Given the description of an element on the screen output the (x, y) to click on. 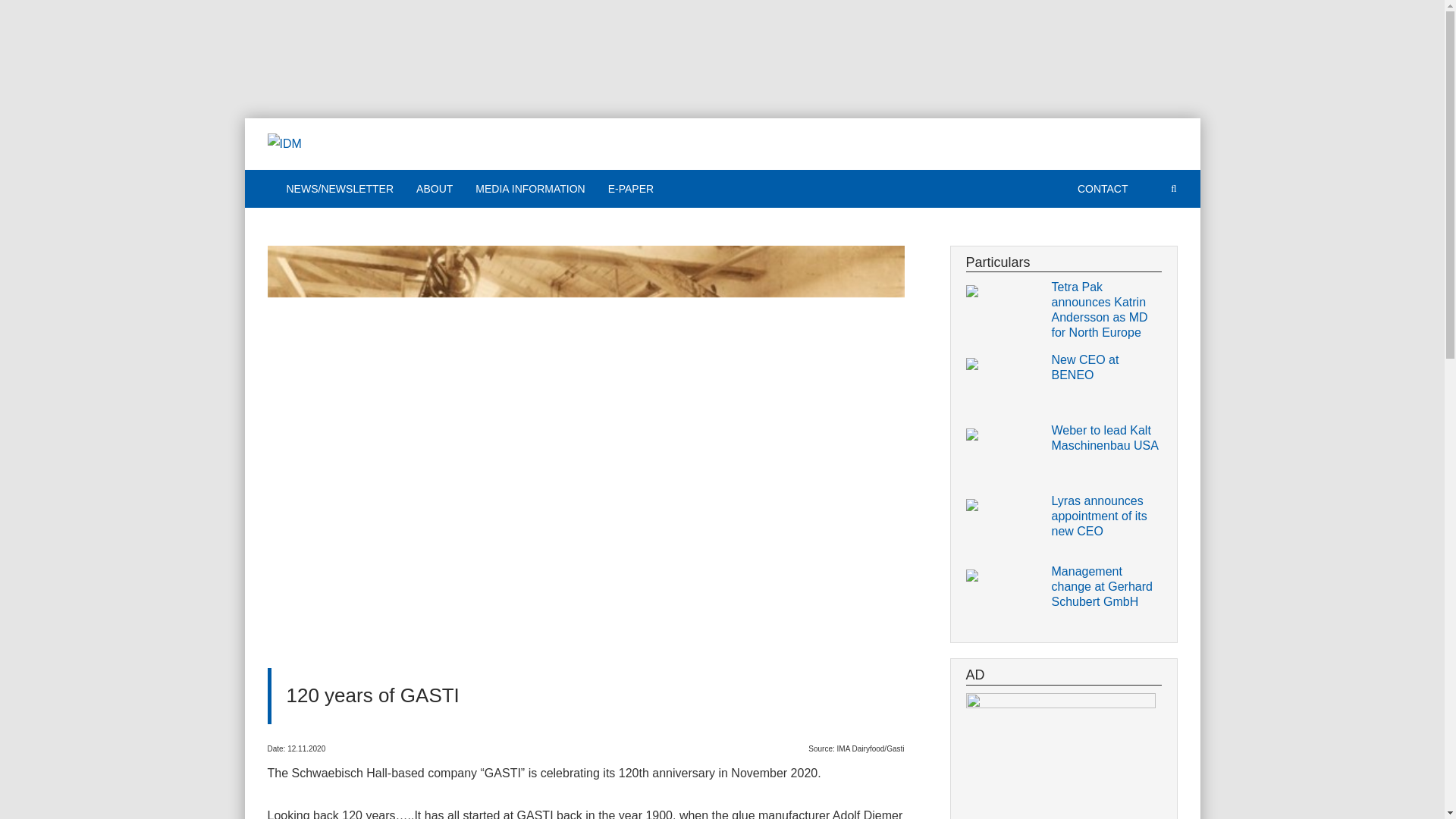
Lyras announces appointment of its new CEO (1105, 515)
New CEO at BENEO (1105, 367)
MEDIA INFORMATION (529, 188)
Weber to lead Kalt Maschinenbau USA (1105, 438)
Tetra Pak announces Katrin Andersson as MD for North Europe (1105, 310)
Management change at Gerhard Schubert GmbH (1105, 586)
ABOUT (434, 188)
E-PAPER (630, 188)
CONTACT (1102, 188)
